Given the description of an element on the screen output the (x, y) to click on. 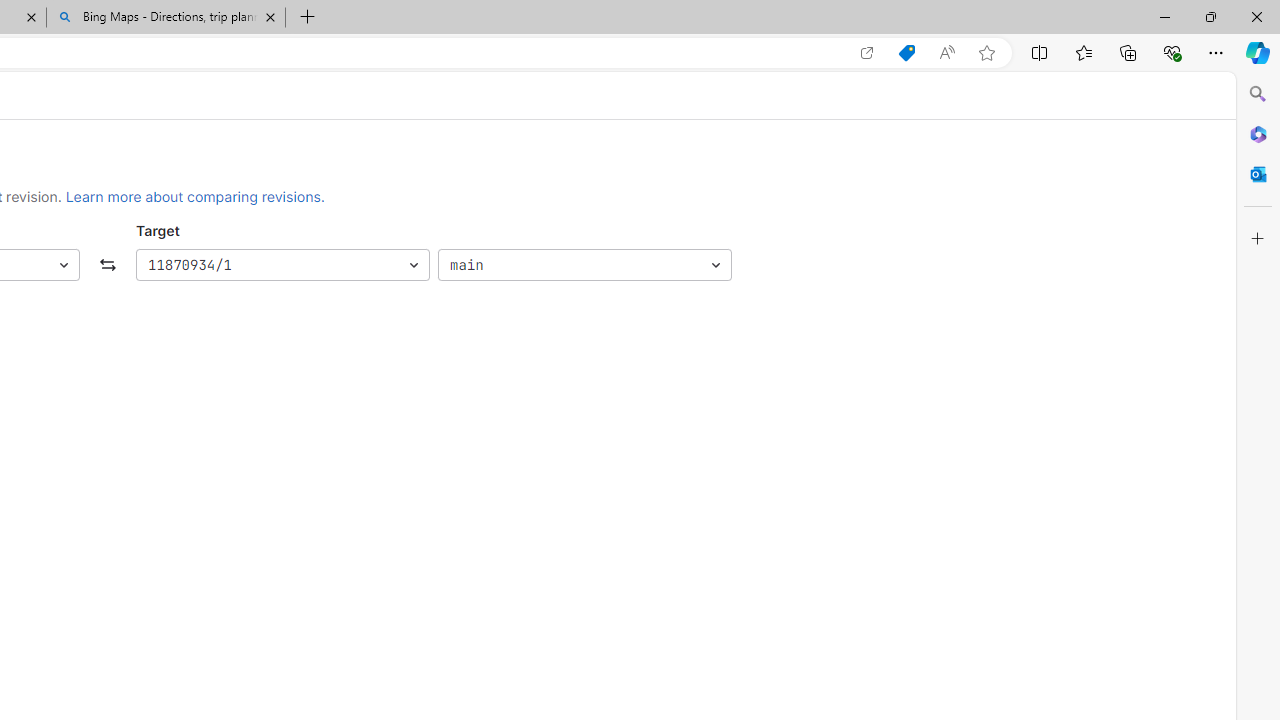
main (584, 265)
Open in app (867, 53)
